Given the description of an element on the screen output the (x, y) to click on. 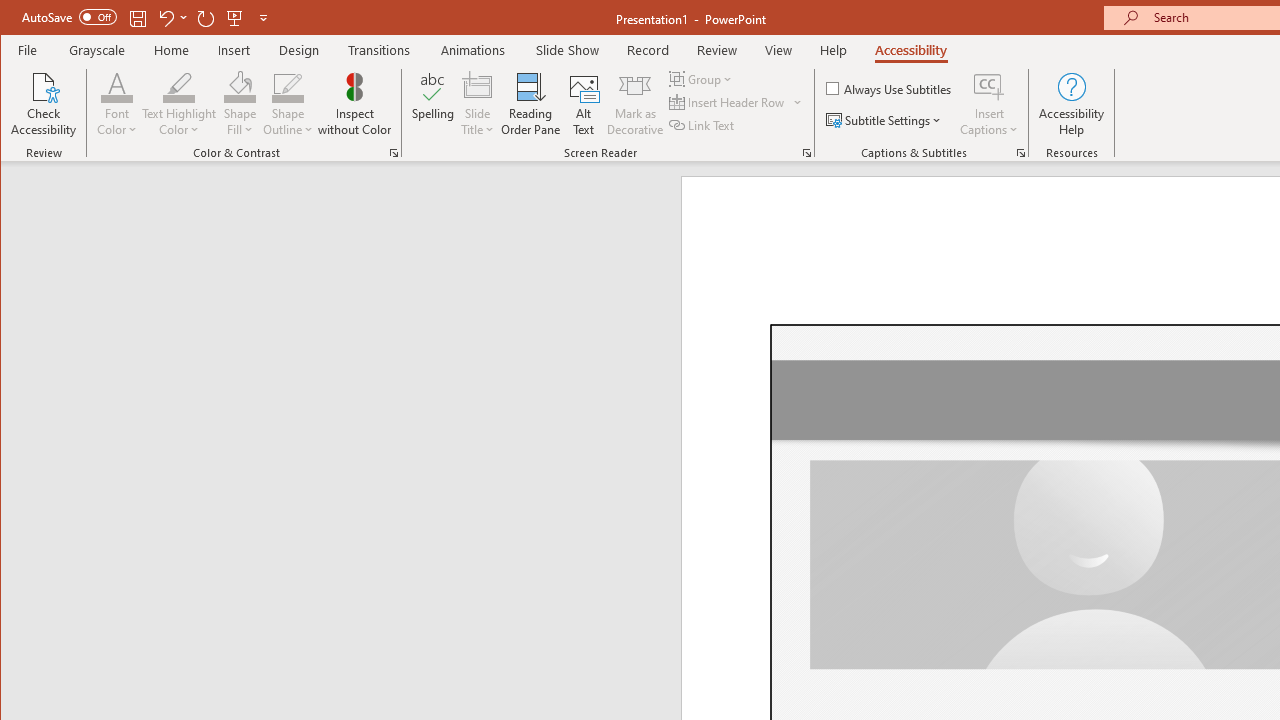
Inspect without Color (355, 104)
Slide Title (477, 86)
